Given the description of an element on the screen output the (x, y) to click on. 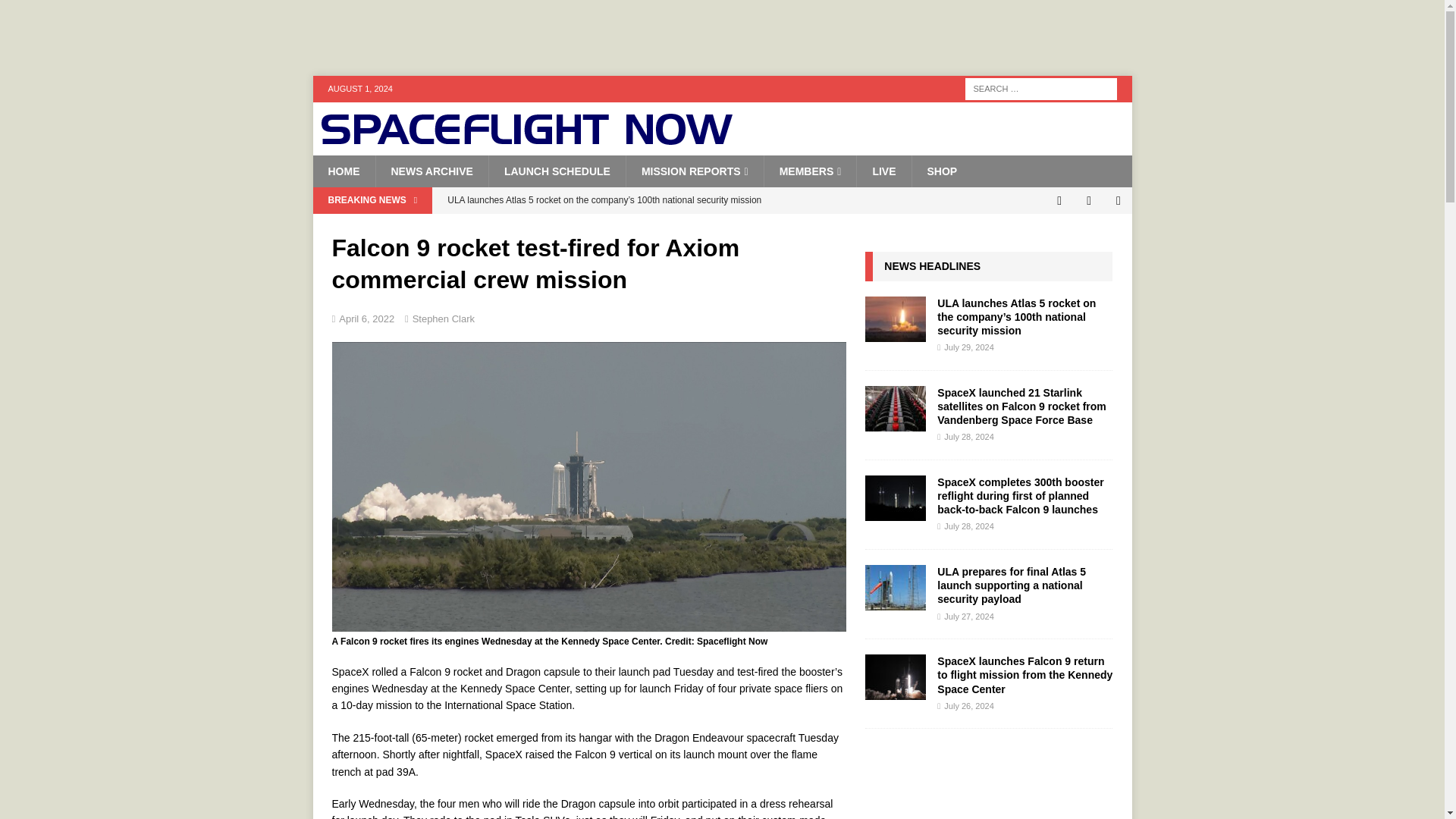
NEWS ARCHIVE (430, 171)
Search (56, 11)
Spaceflight Now (526, 139)
MISSION REPORTS (694, 171)
HOME (343, 171)
LAUNCH SCHEDULE (556, 171)
MEMBERS (809, 171)
